Given the description of an element on the screen output the (x, y) to click on. 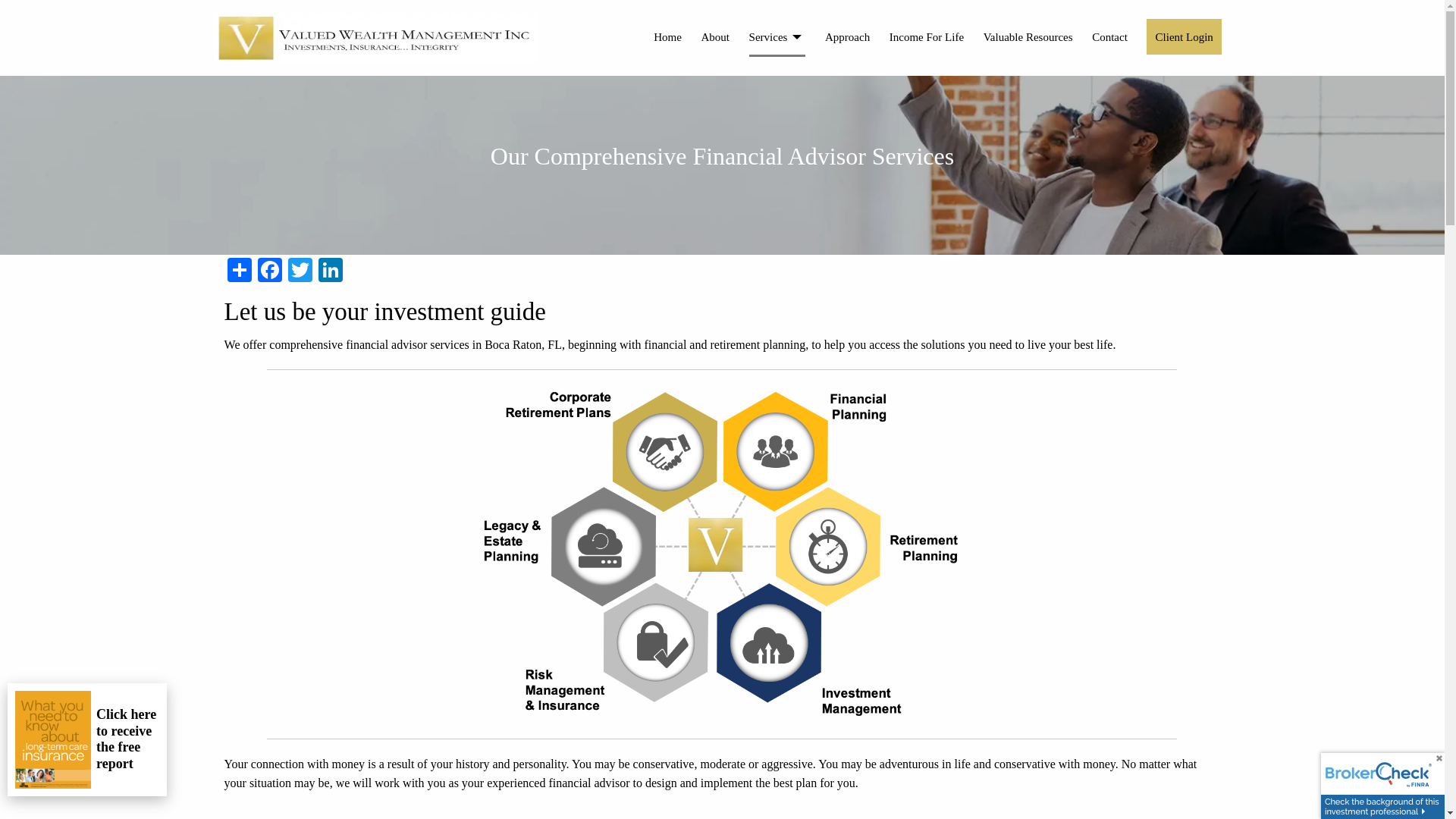
Income For Life (926, 36)
Services (777, 36)
Approach (847, 36)
Contact (1109, 36)
Services (777, 36)
Income For Life (926, 36)
Client Login (1184, 36)
Click here to receive the free report (127, 739)
Approach (847, 36)
Valuable Resources (1028, 36)
